Given the description of an element on the screen output the (x, y) to click on. 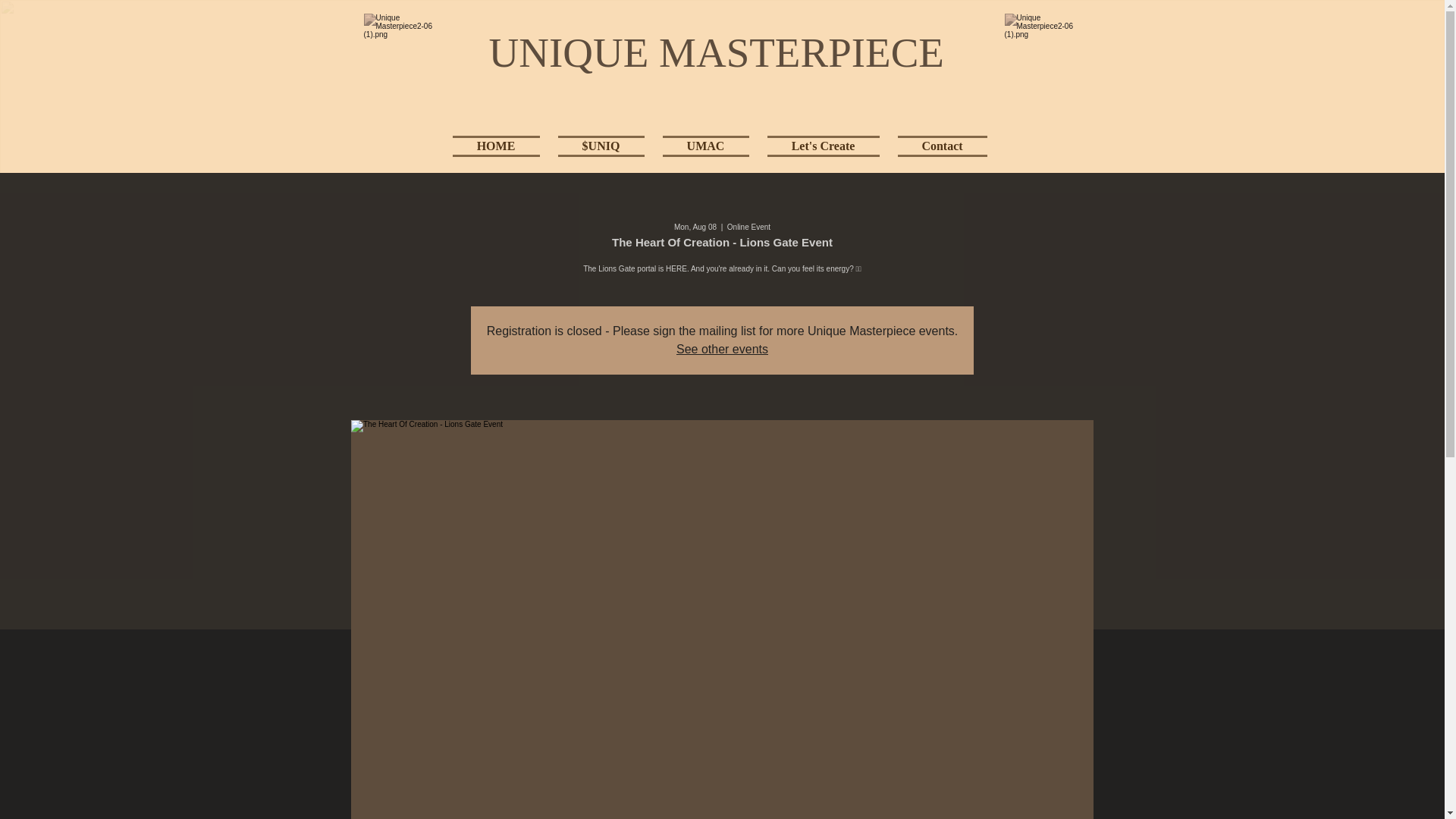
UMAC (705, 142)
Let's Create (823, 142)
Contact (937, 142)
HOME (499, 142)
See other events (722, 349)
